Given the description of an element on the screen output the (x, y) to click on. 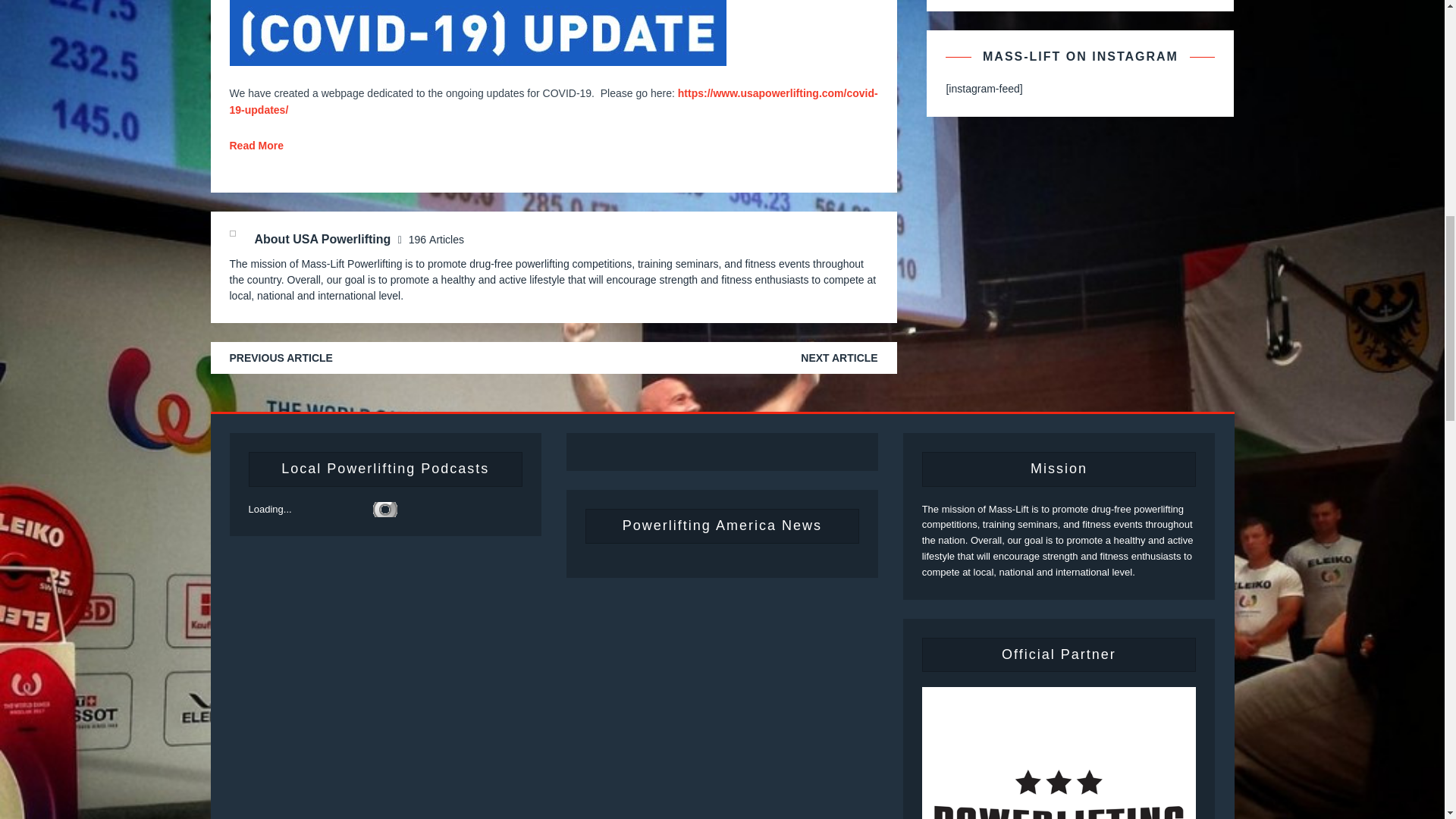
More articles written by USA Powerlifting' (436, 239)
